Given the description of an element on the screen output the (x, y) to click on. 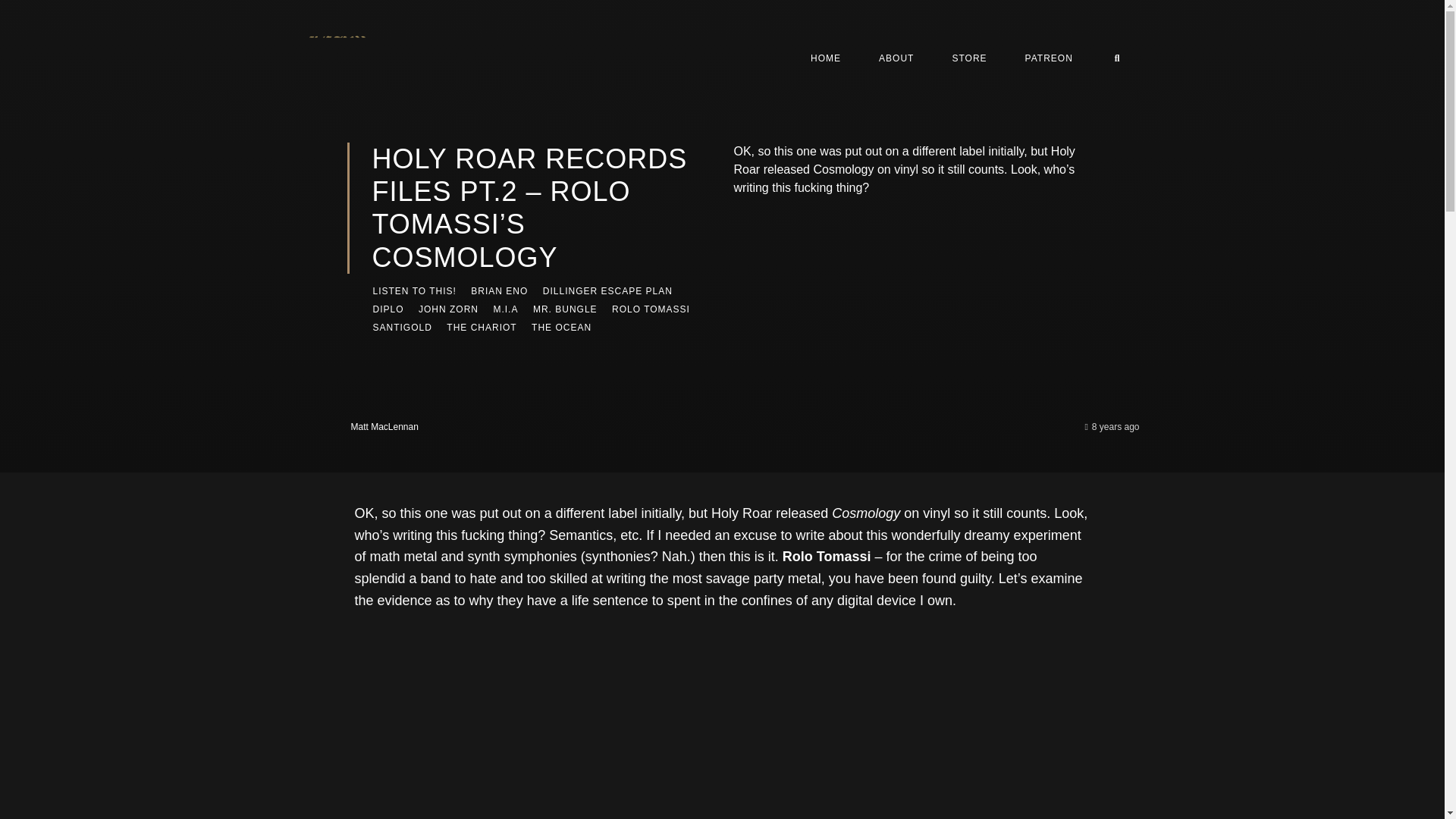
ABOUT (896, 58)
PATREON (1049, 58)
STORE (969, 58)
HOME (826, 58)
